Given the description of an element on the screen output the (x, y) to click on. 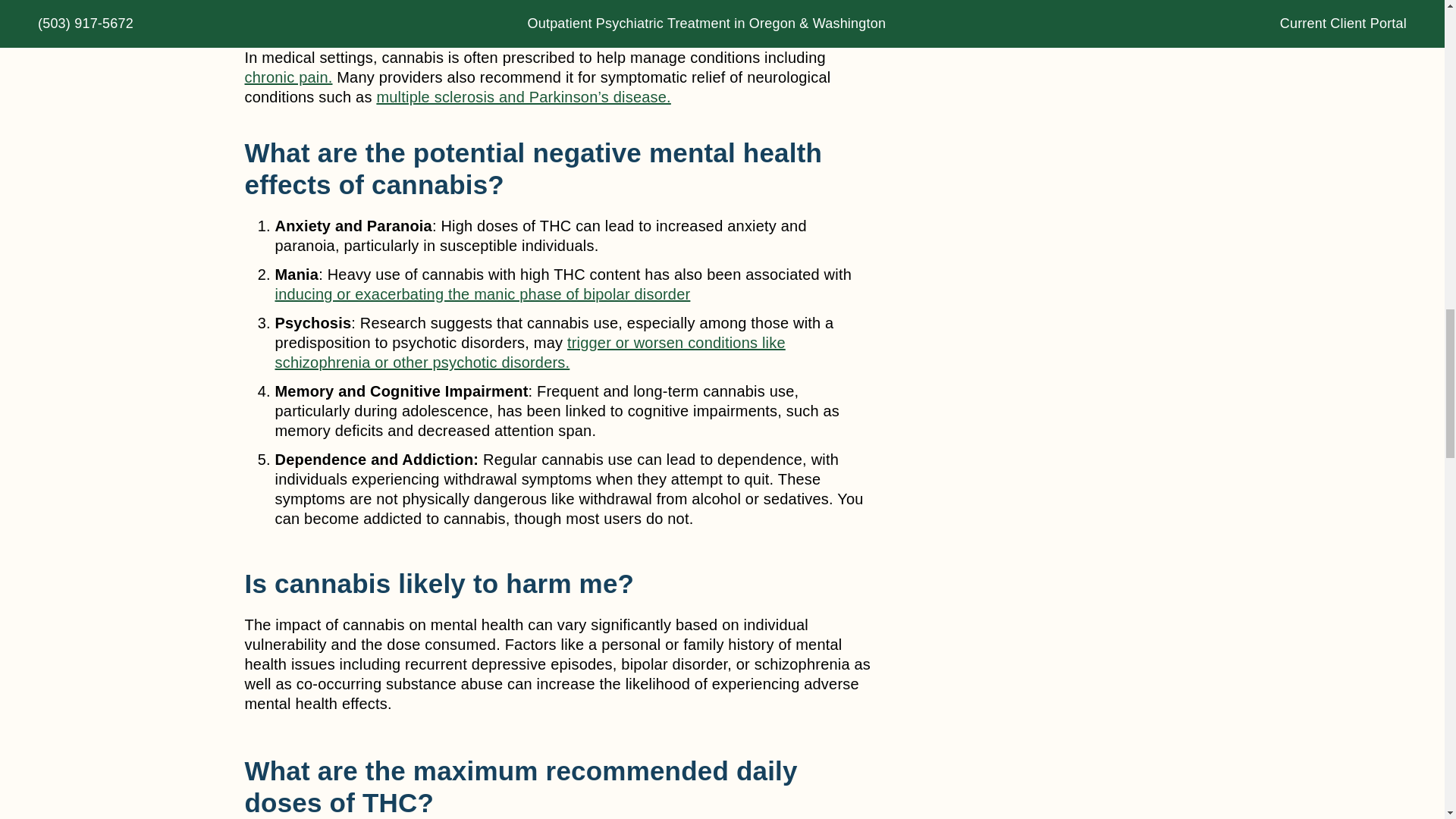
inducing or exacerbating the manic phase of bipolar disorder (482, 293)
chronic pain. (287, 76)
